Given the description of an element on the screen output the (x, y) to click on. 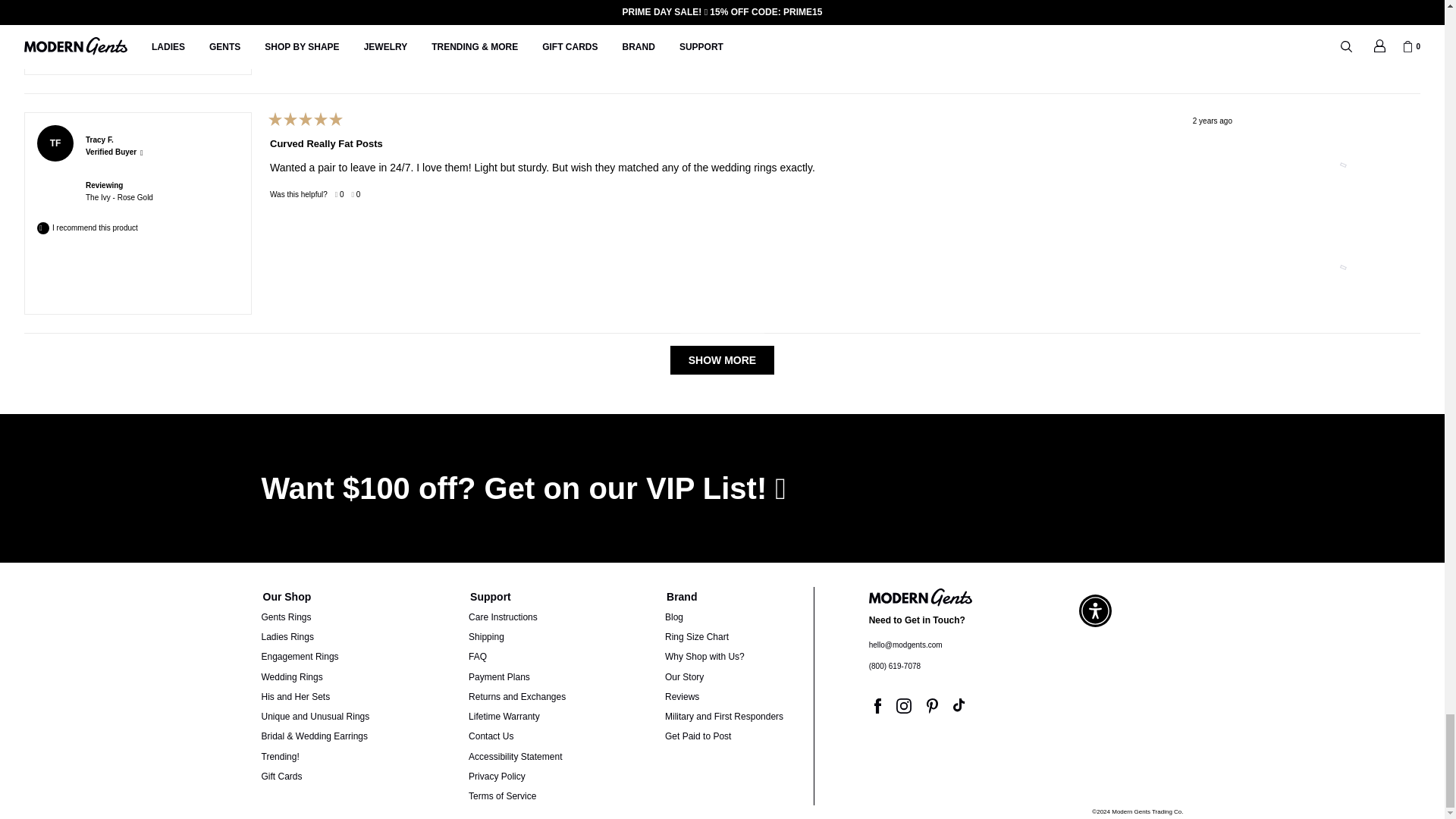
His and Her Sets (295, 696)
Engagement Rings (298, 656)
Unique and Unusual Rings (314, 716)
Ladies Rings (286, 636)
Trending! (279, 756)
from United States (121, 133)
Gift Cards (280, 776)
Wedding Rings (290, 676)
Gents Rings (285, 616)
